Given the description of an element on the screen output the (x, y) to click on. 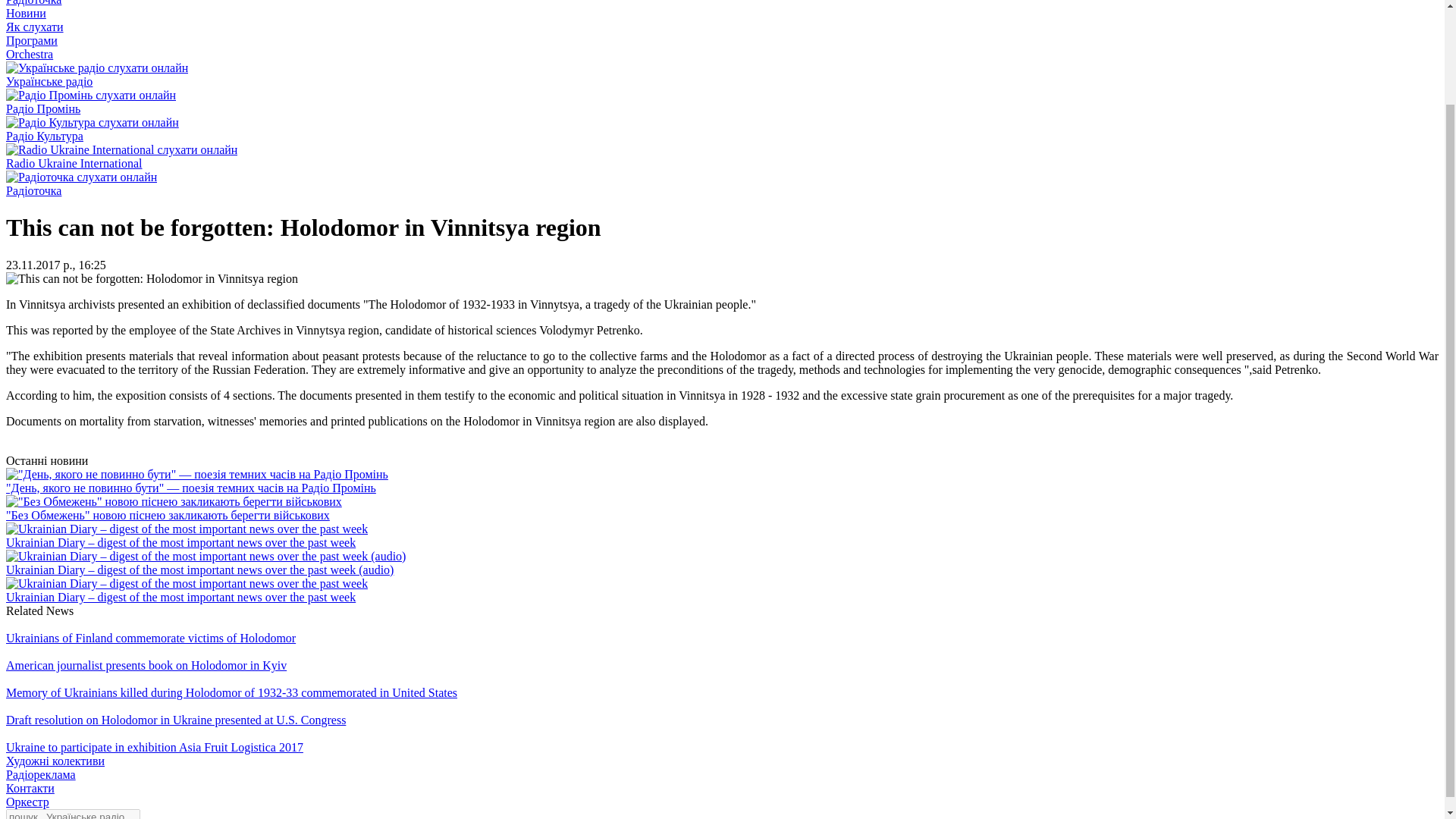
Orchestra (28, 53)
